Given the description of an element on the screen output the (x, y) to click on. 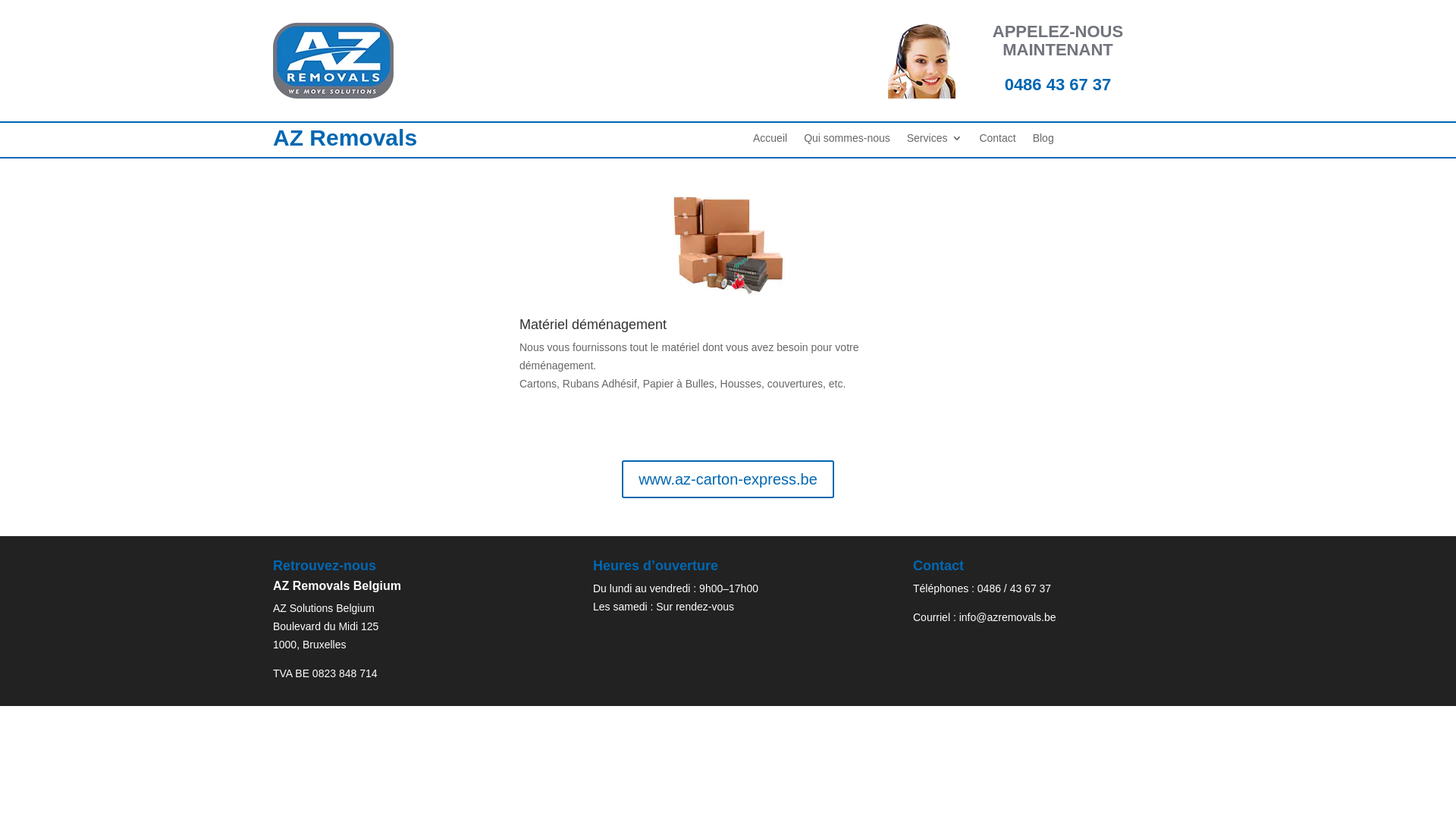
Services Element type: text (934, 140)
Qui sommes-nous Element type: text (846, 140)
Contact Element type: text (997, 140)
www.az-carton-express.be Element type: text (727, 479)
Accueil Element type: text (770, 140)
0486 43 67 37 Element type: text (1057, 84)
Blog Element type: text (1043, 140)
